Given the description of an element on the screen output the (x, y) to click on. 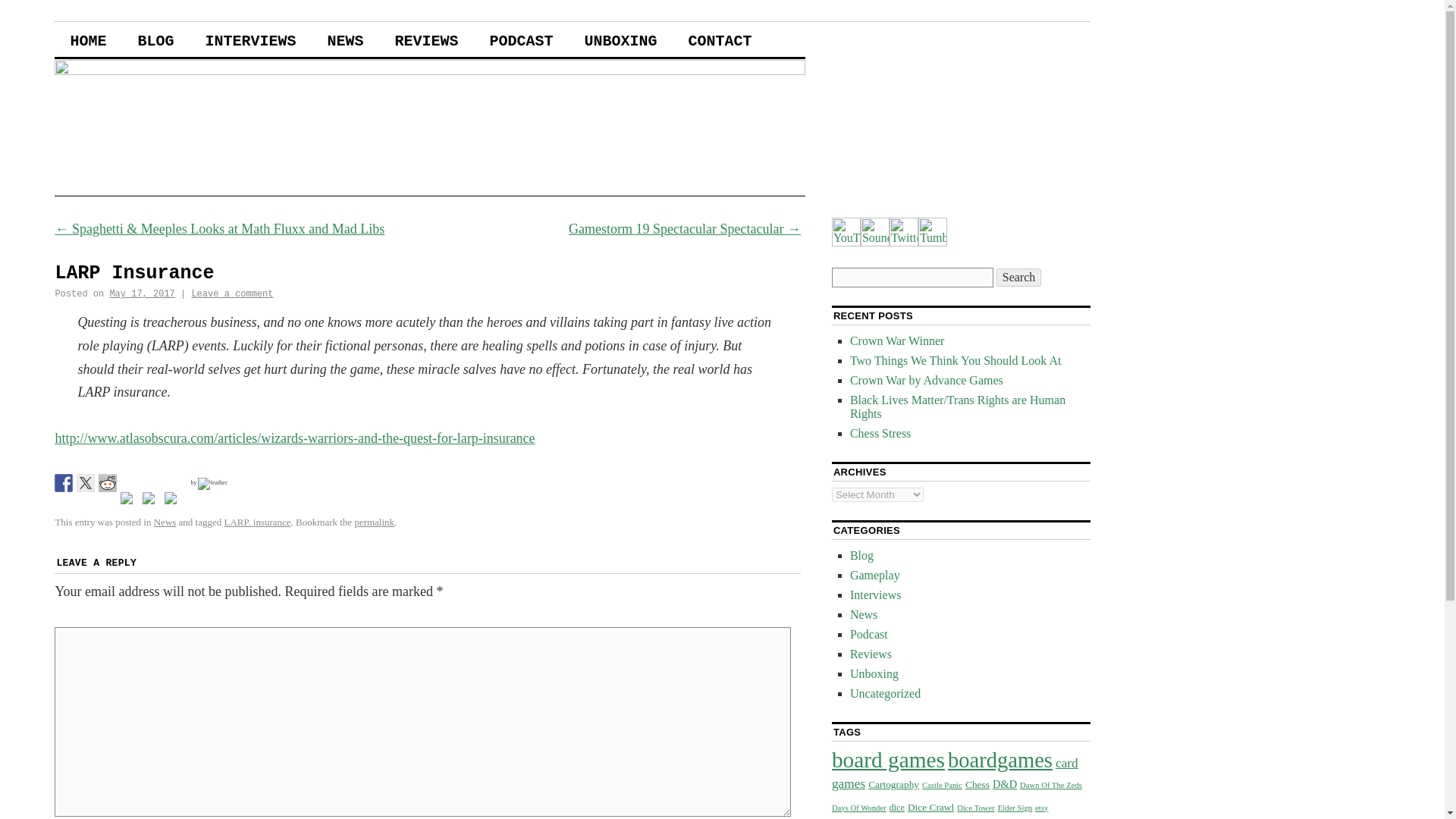
Search (1018, 277)
HOME (87, 39)
5:21 am (141, 294)
Share on tumblr (151, 501)
NEWS (344, 39)
REVIEWS (425, 39)
permalink (373, 521)
INTERVIEWS (250, 39)
May 17, 2017 (141, 294)
BLOG (155, 39)
